Given the description of an element on the screen output the (x, y) to click on. 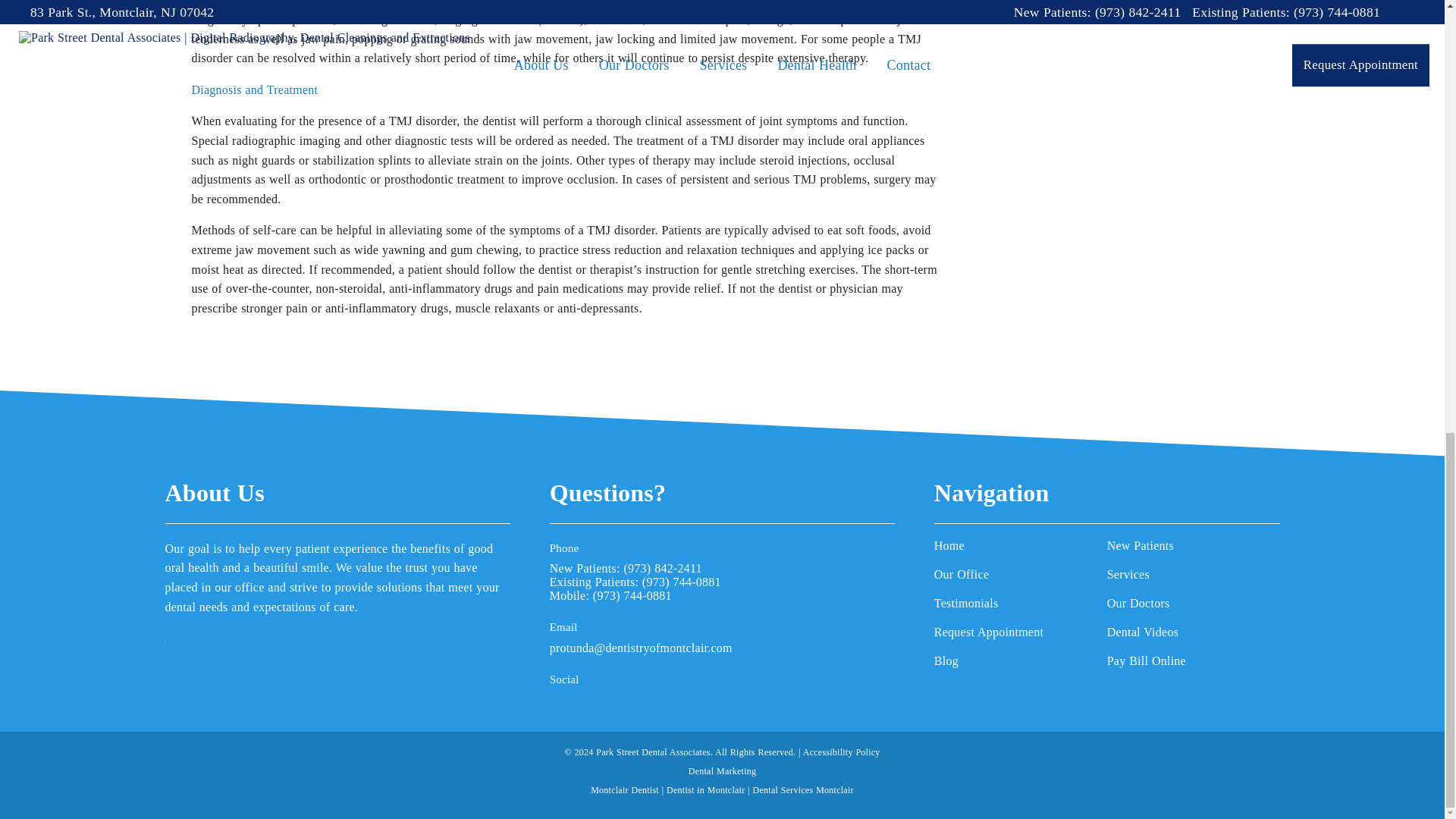
Testimonials (1020, 603)
Our Doctors (1192, 603)
Services (1192, 574)
Request Appointment (1020, 632)
Home (1020, 545)
New Patients (1192, 545)
Our Office (1020, 574)
